Given the description of an element on the screen output the (x, y) to click on. 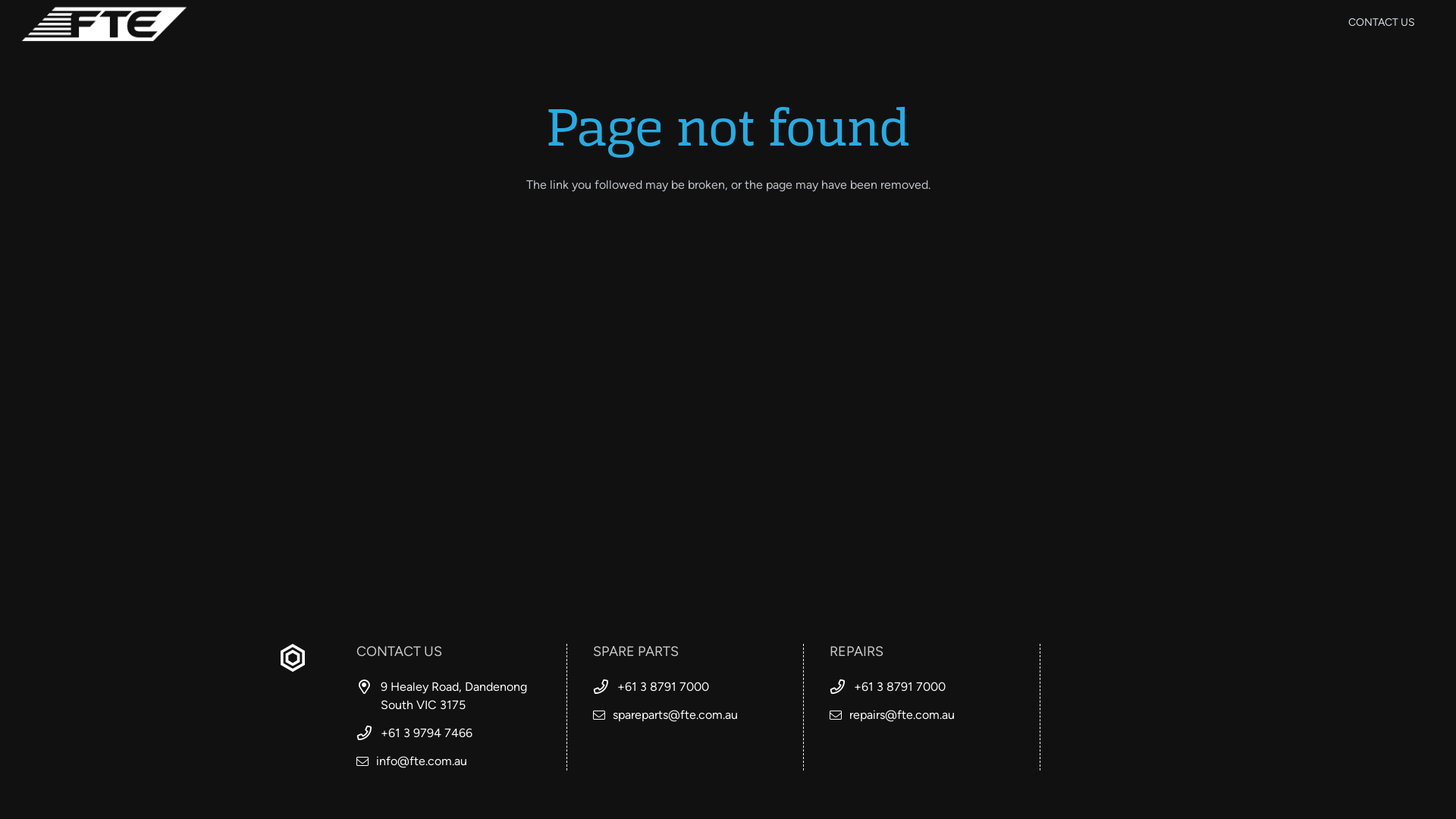
CONTACT US Element type: text (1381, 22)
